Given the description of an element on the screen output the (x, y) to click on. 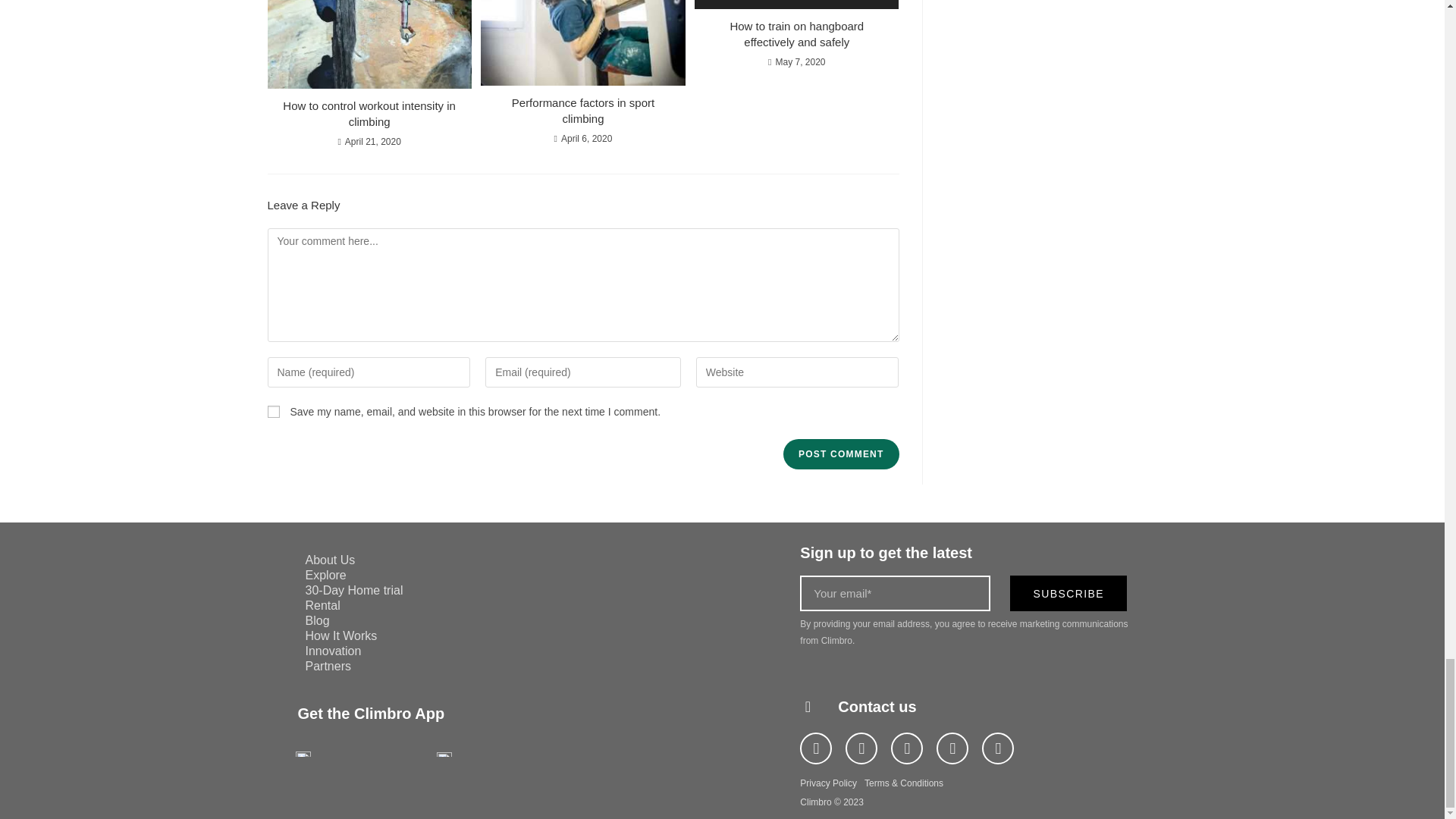
How to train on hangboard effectively and safely (796, 33)
Post Comment (840, 453)
Performance factors in sport climbing (582, 110)
How to control workout intensity in climbing (368, 113)
Post Comment (840, 453)
yes (272, 411)
